Given the description of an element on the screen output the (x, y) to click on. 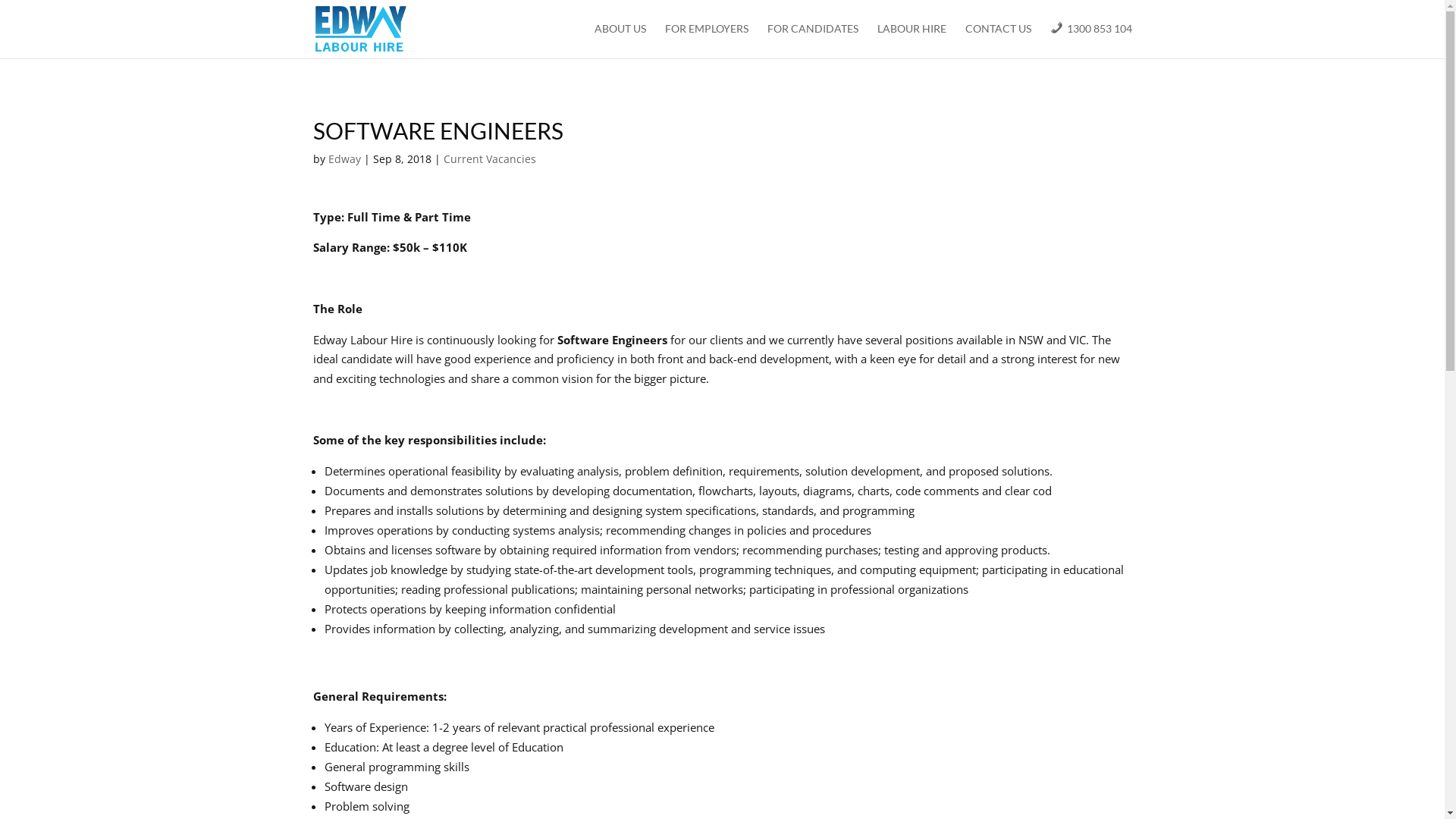
FOR CANDIDATES Element type: text (812, 40)
Current Vacancies Element type: text (488, 158)
LABOUR HIRE Element type: text (911, 40)
1300 853 104 Element type: text (1090, 40)
CONTACT US Element type: text (998, 40)
FOR EMPLOYERS Element type: text (706, 40)
ABOUT US Element type: text (620, 40)
Edway Element type: text (343, 158)
